Given the description of an element on the screen output the (x, y) to click on. 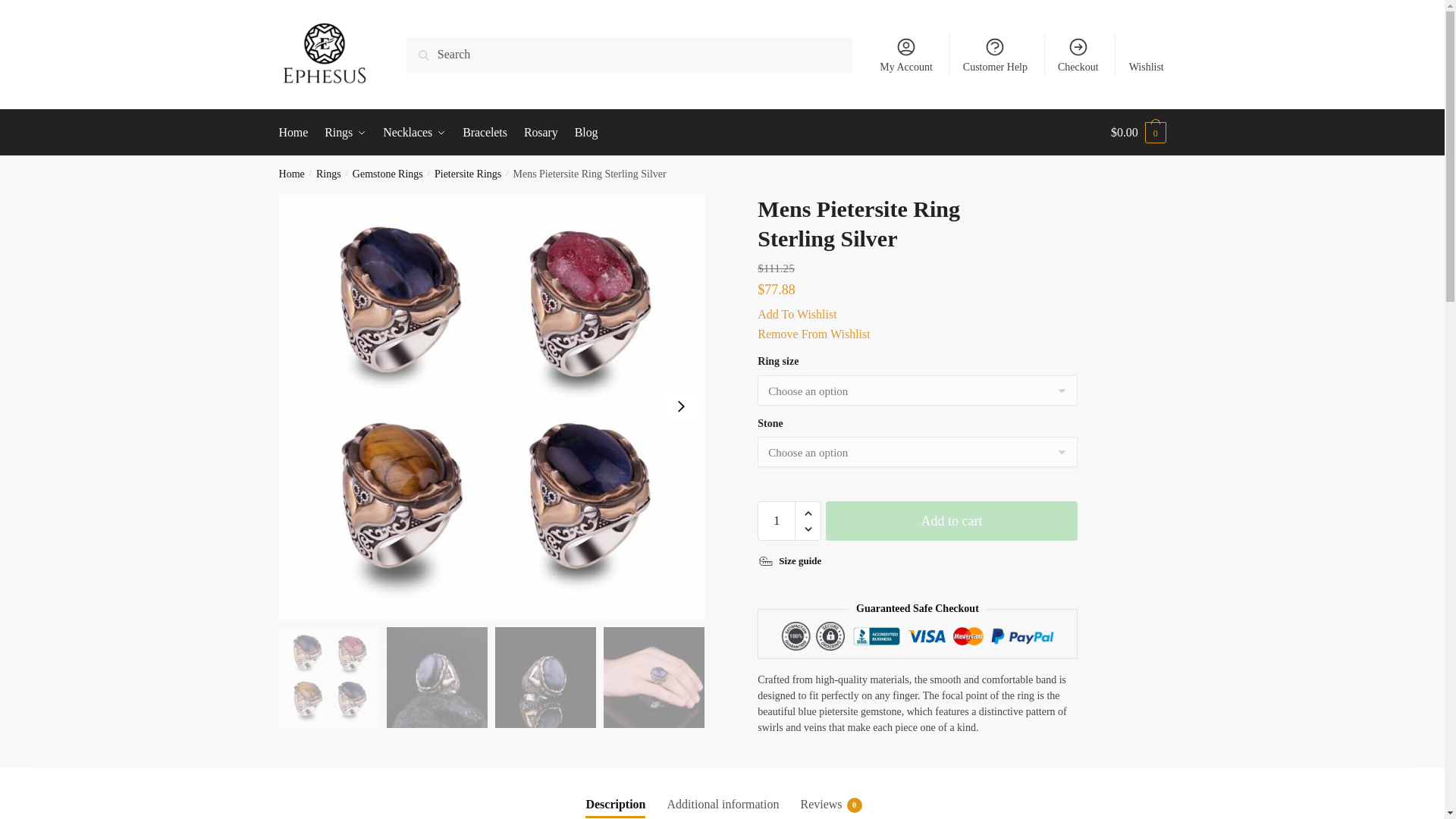
Home (291, 173)
Gemstone Rings (387, 173)
Necklaces (413, 132)
Rings (345, 132)
View your shopping cart (1138, 132)
Bracelets (484, 132)
Pietersite Rings (466, 173)
1 (775, 520)
Home (297, 132)
Checkout (1078, 54)
Blog (585, 132)
Search (427, 47)
My Account (906, 54)
Rings (327, 173)
